Given the description of an element on the screen output the (x, y) to click on. 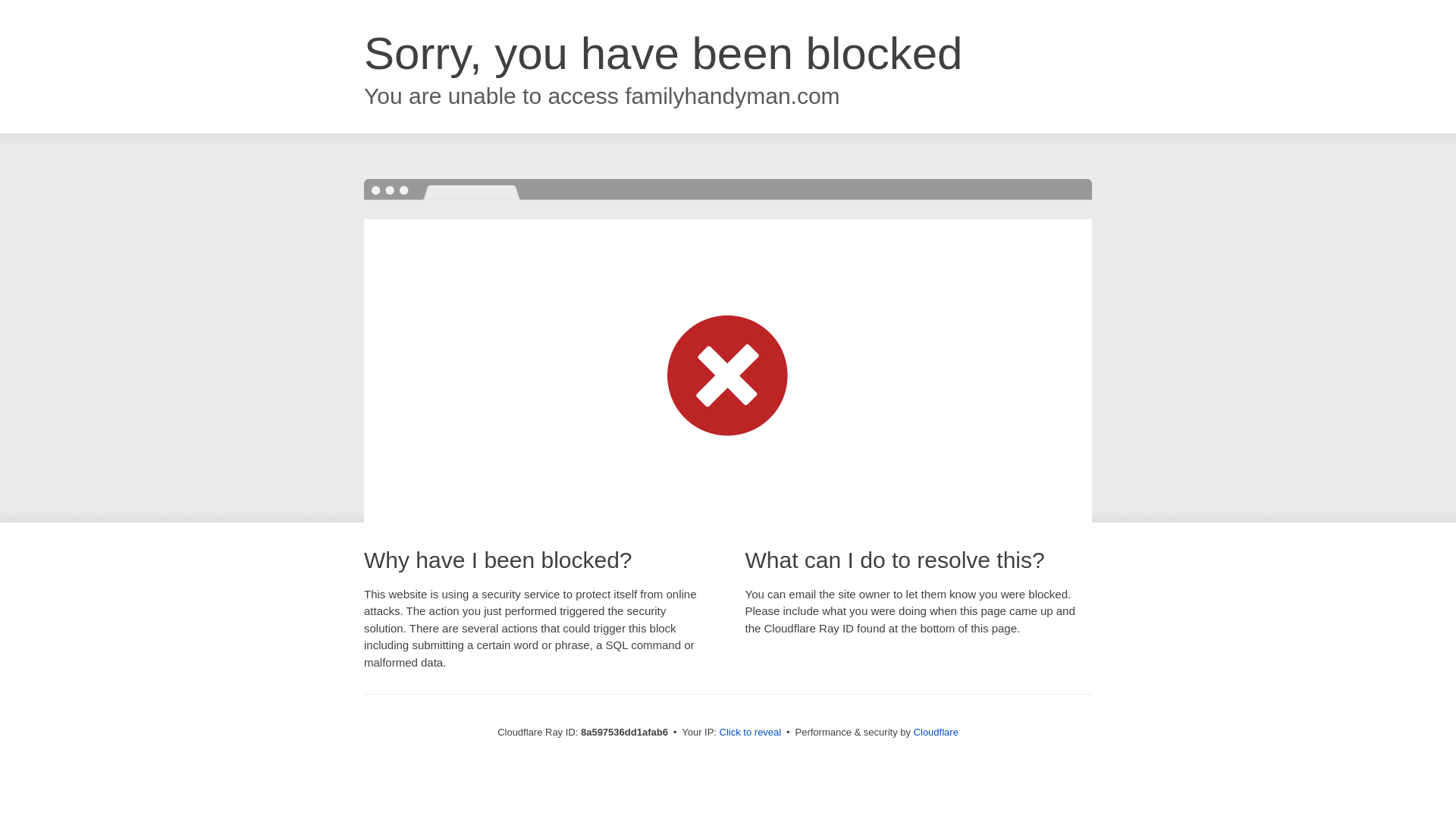
Cloudflare (936, 731)
Click to reveal (750, 732)
